Given the description of an element on the screen output the (x, y) to click on. 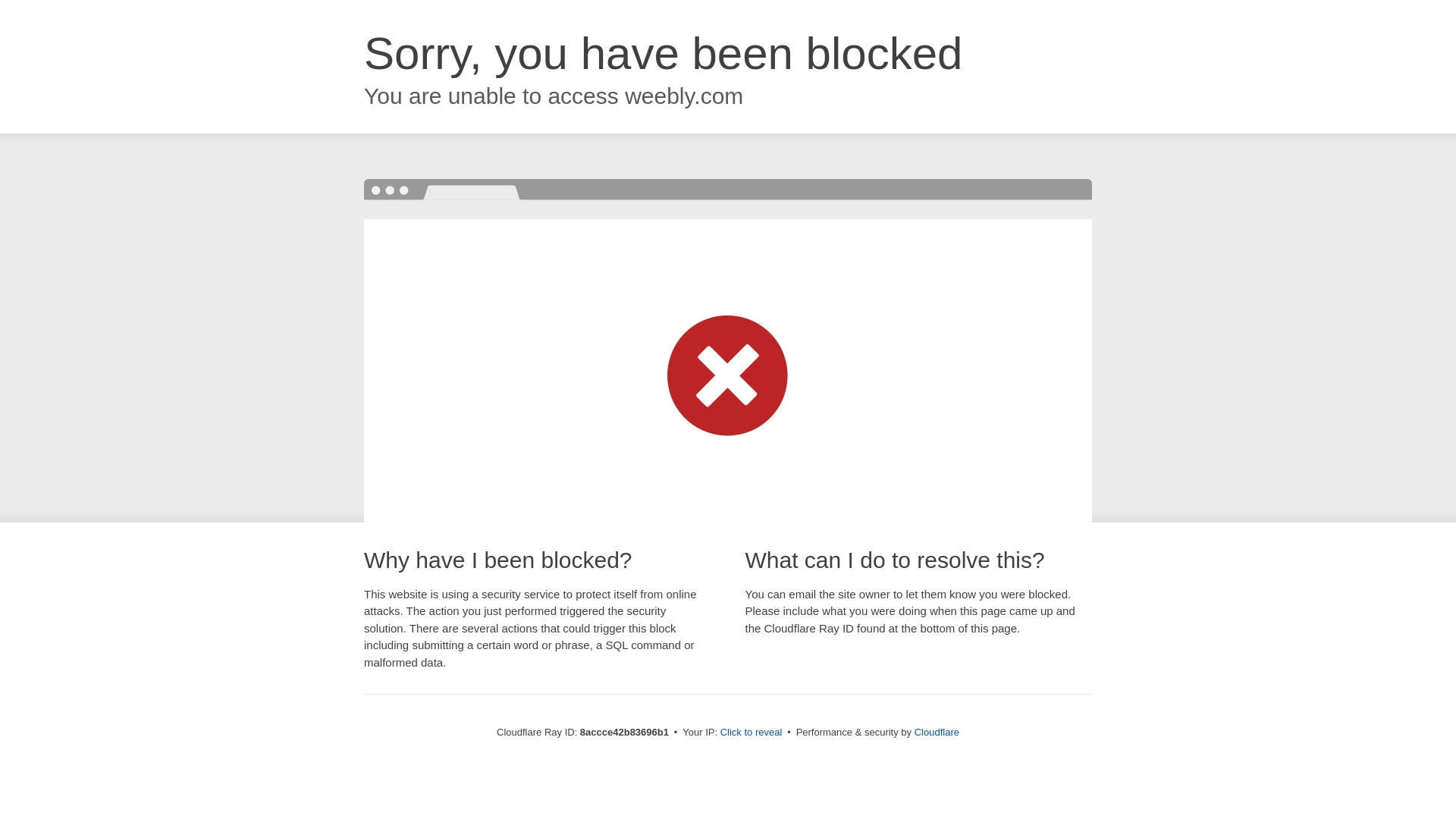
Cloudflare (936, 731)
Click to reveal (751, 732)
